Given the description of an element on the screen output the (x, y) to click on. 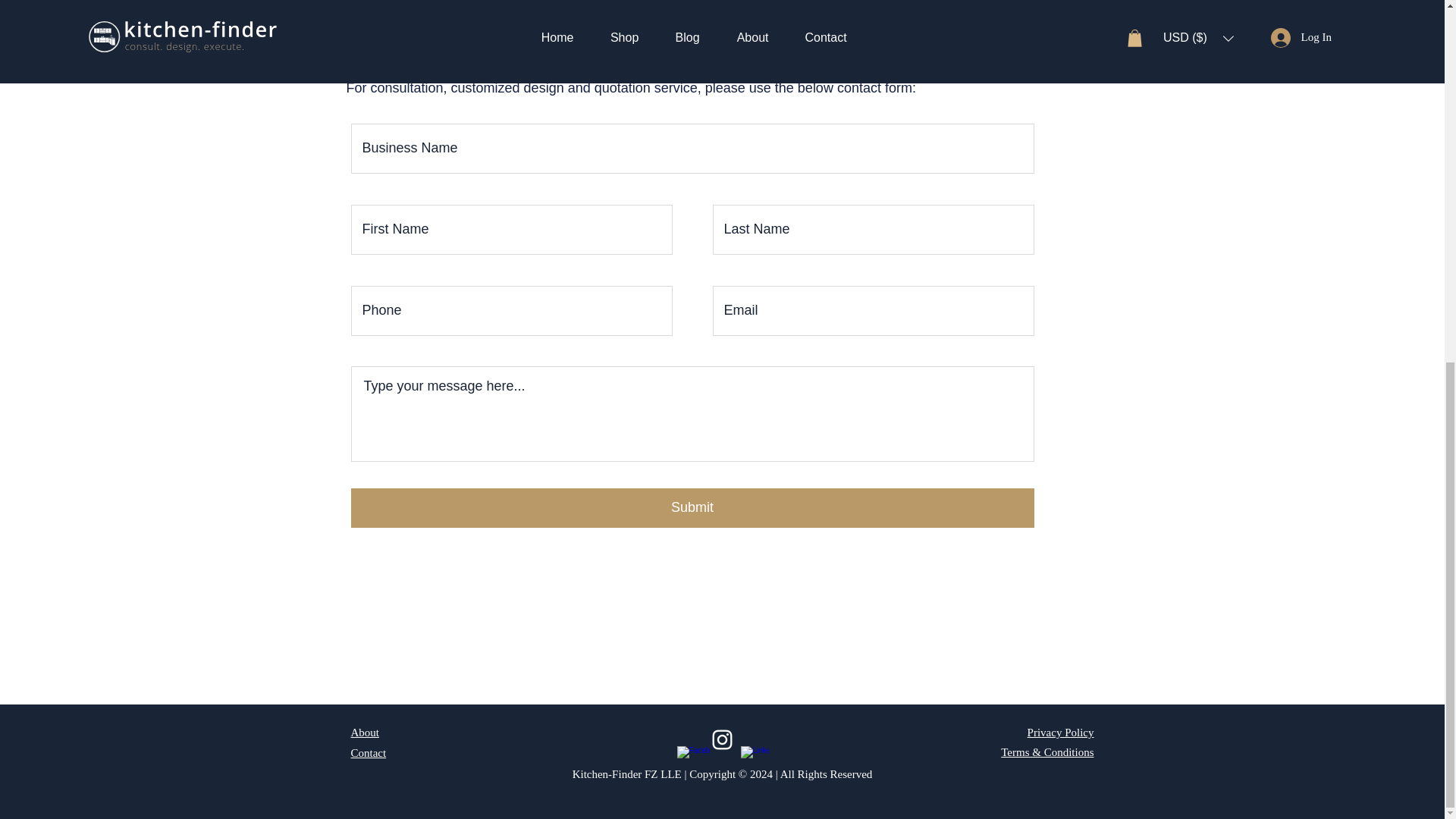
Contact (367, 752)
About (364, 732)
Privacy Policy (1060, 732)
